Given the description of an element on the screen output the (x, y) to click on. 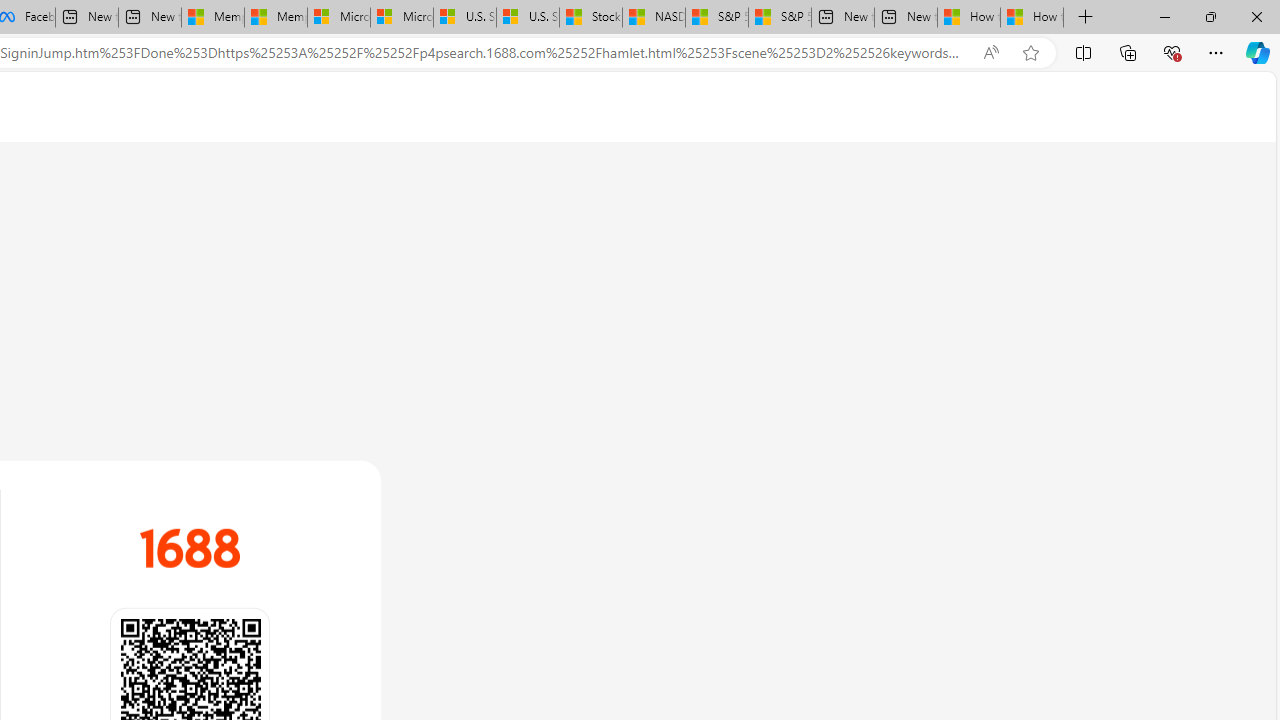
How to Use a Monitor With Your Closed Laptop (1032, 17)
To get missing image descriptions, open the context menu. (189, 547)
